Given the description of an element on the screen output the (x, y) to click on. 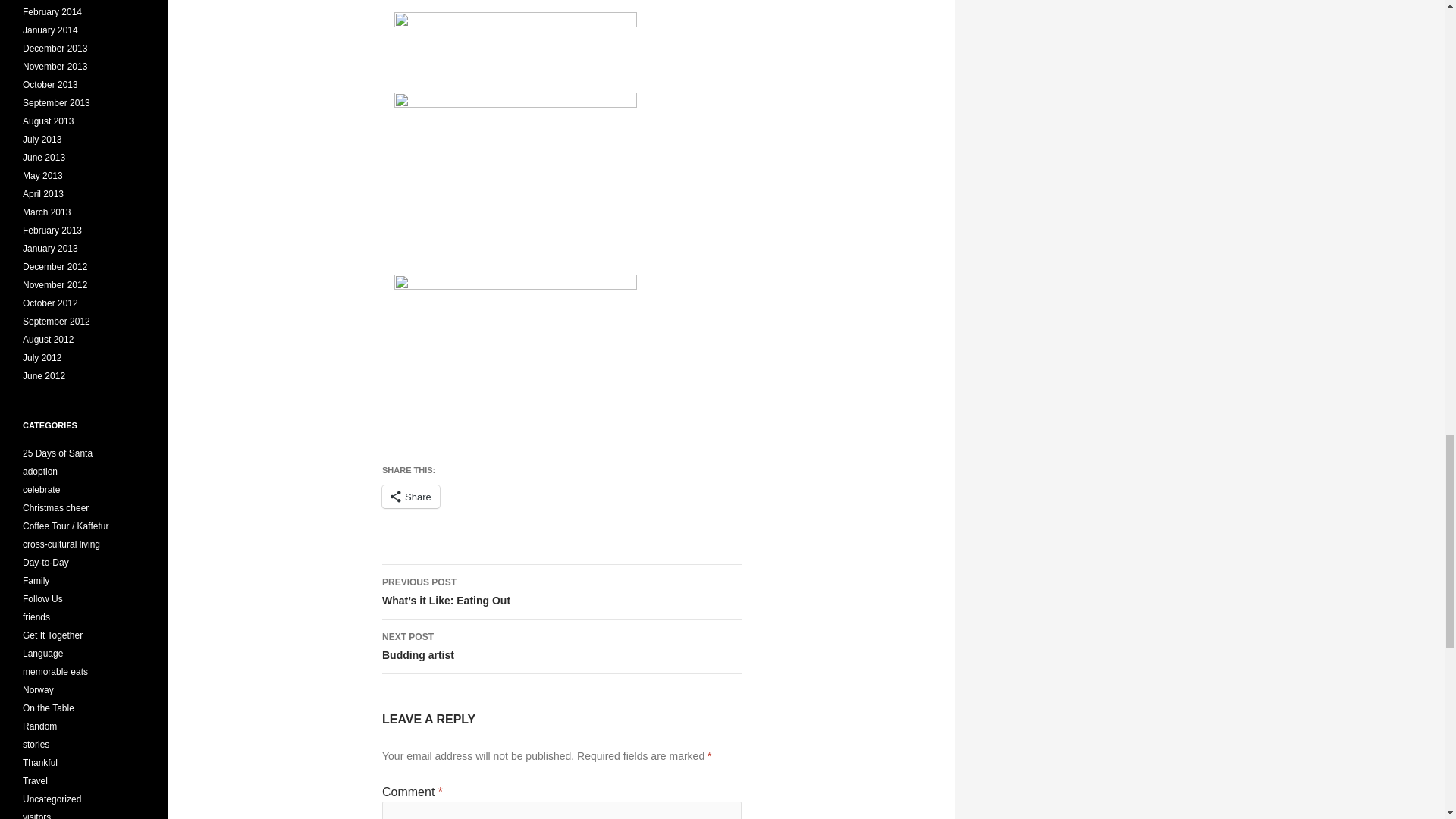
Share (561, 646)
